Given the description of an element on the screen output the (x, y) to click on. 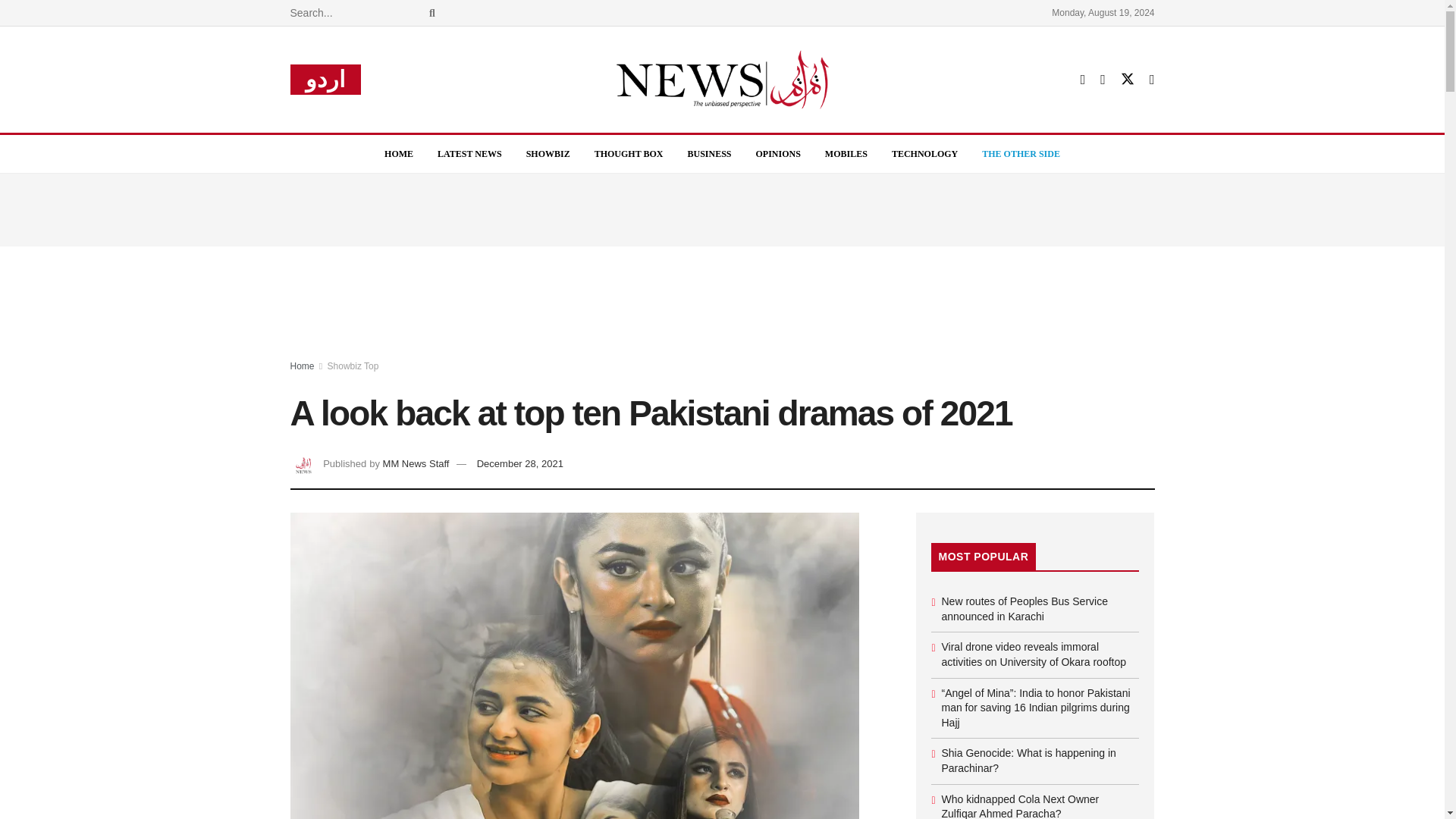
SHOWBIZ (547, 153)
LATEST NEWS (469, 153)
MOBILES (845, 153)
THE OTHER SIDE (1020, 153)
TECHNOLOGY (924, 153)
BUSINESS (708, 153)
THOUGHT BOX (628, 153)
OPINIONS (778, 153)
HOME (398, 153)
